Given the description of an element on the screen output the (x, y) to click on. 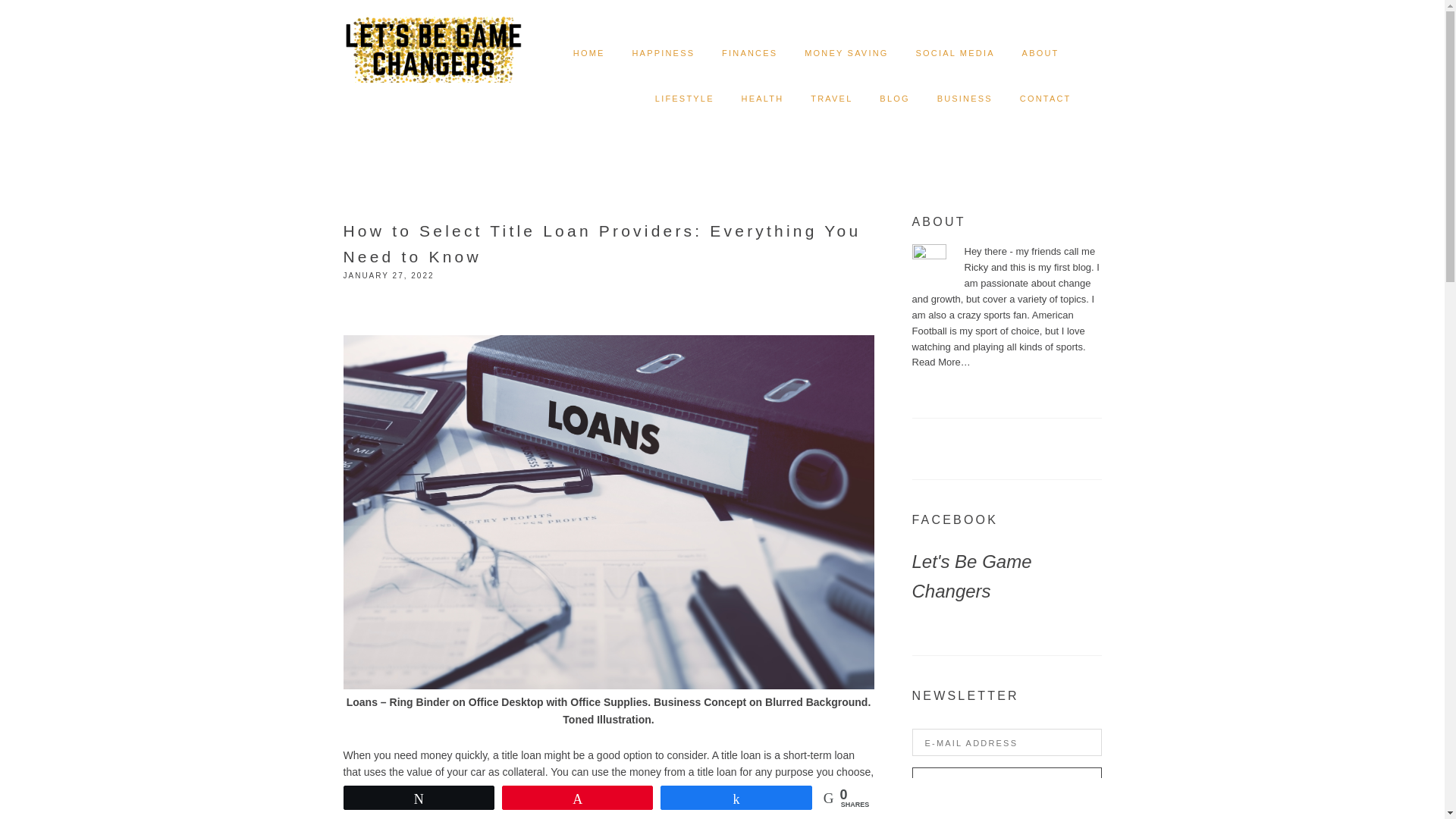
Go (1005, 783)
TRAVEL (830, 98)
HEALTH (762, 98)
LET'S BE GAME CHANGERS (432, 37)
LIFESTYLE (684, 98)
BUSINESS (964, 98)
SOCIAL MEDIA (954, 53)
HAPPINESS (662, 53)
CONTACT (1045, 98)
MONEY SAVING (846, 53)
FINANCES (749, 53)
Let's Be Game Changers (970, 576)
